Given the description of an element on the screen output the (x, y) to click on. 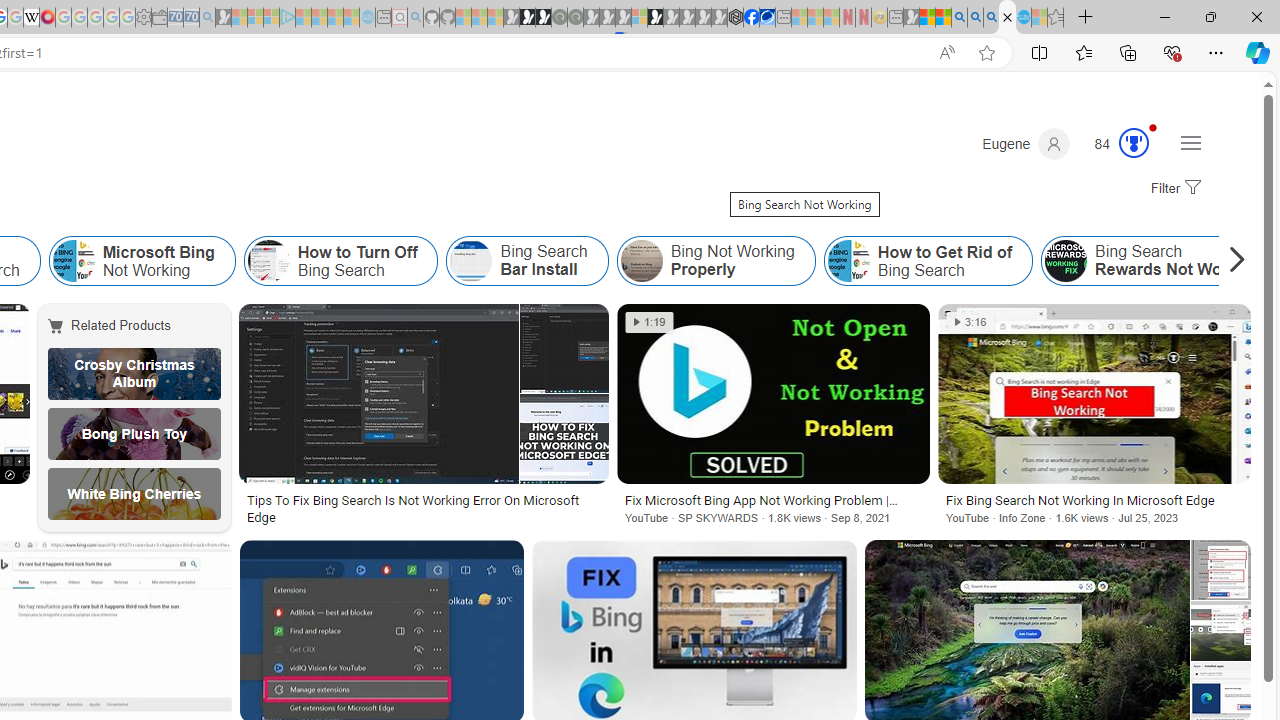
3:16 (969, 322)
Bing Search Bar Install (471, 260)
How to Get Rid of Bing Search (848, 260)
Scroll right (1231, 260)
Bing Not Working Properly (715, 260)
Fix Bing Search Not Working In Microsoft Edge (1093, 500)
How to Turn Off Bing Search (268, 260)
